Given the description of an element on the screen output the (x, y) to click on. 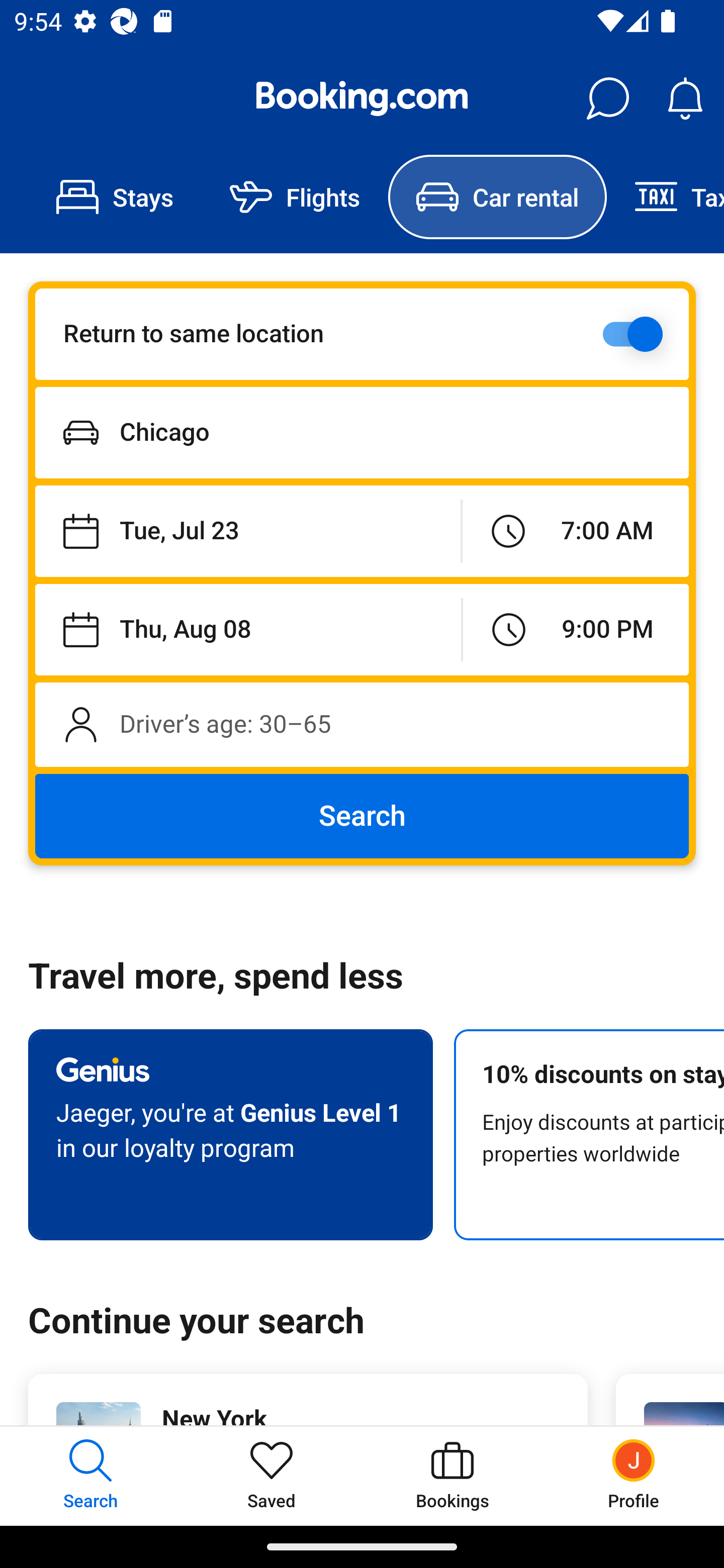
Messages (607, 98)
Notifications (685, 98)
Stays (114, 197)
Flights (294, 197)
Car rental (497, 197)
Taxi (665, 197)
Pick-up location: Text(name=Chicago) (361, 432)
Pick-up date: 2024-07-23 (247, 531)
Pick-up time: 07:00:00.000 (575, 531)
Drop-off date: 2024-08-08 (248, 629)
Drop-off time: 21:00:00.000 (575, 629)
Enter the driver's age (361, 724)
Search (361, 815)
Saved (271, 1475)
Bookings (452, 1475)
Profile (633, 1475)
